Given the description of an element on the screen output the (x, y) to click on. 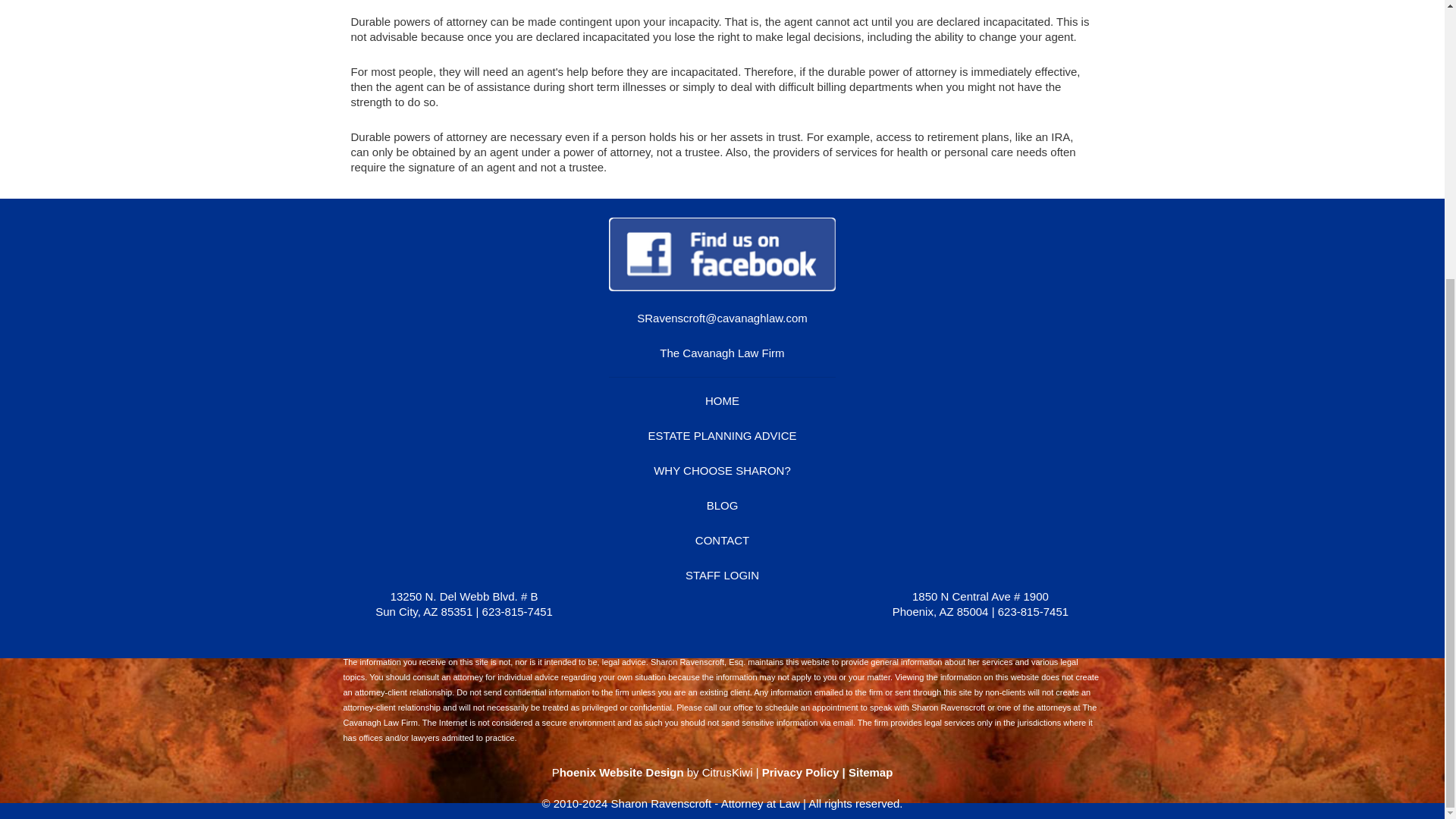
CONTACT (722, 540)
hoenix Website Design (621, 771)
BLOG (722, 504)
HOME (721, 400)
STAFF LOGIN (721, 574)
WHY CHOOSE SHARON? (721, 470)
ESTATE PLANNING ADVICE (721, 435)
Sitemap (870, 771)
The Cavanagh Law Firm (721, 352)
